Given the description of an element on the screen output the (x, y) to click on. 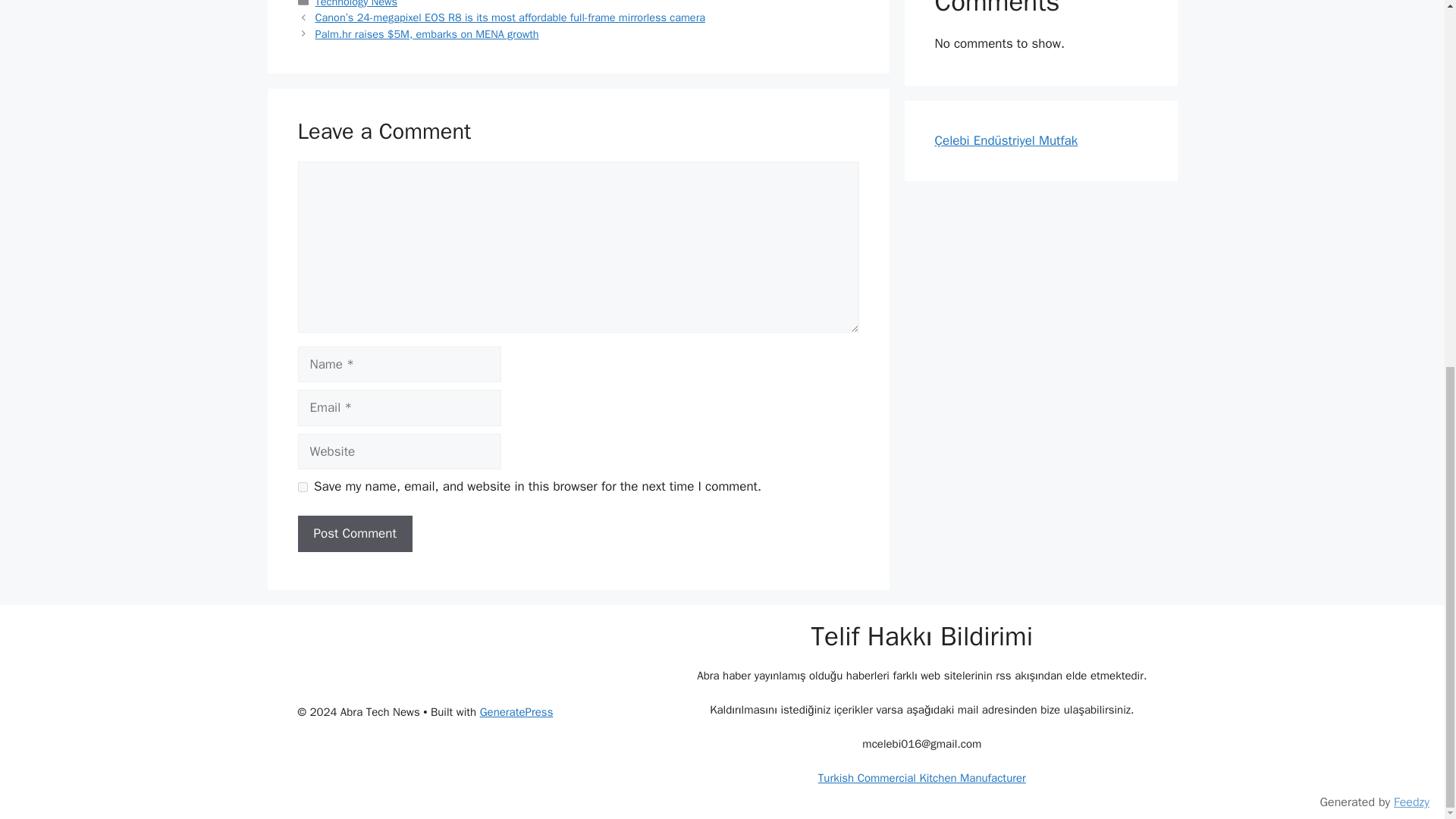
Feedzy (1411, 141)
Technology News (356, 4)
GeneratePress (516, 712)
Post Comment (354, 533)
yes (302, 487)
Post Comment (354, 533)
Turkish Commercial Kitchen Manufacturer (922, 777)
